Given the description of an element on the screen output the (x, y) to click on. 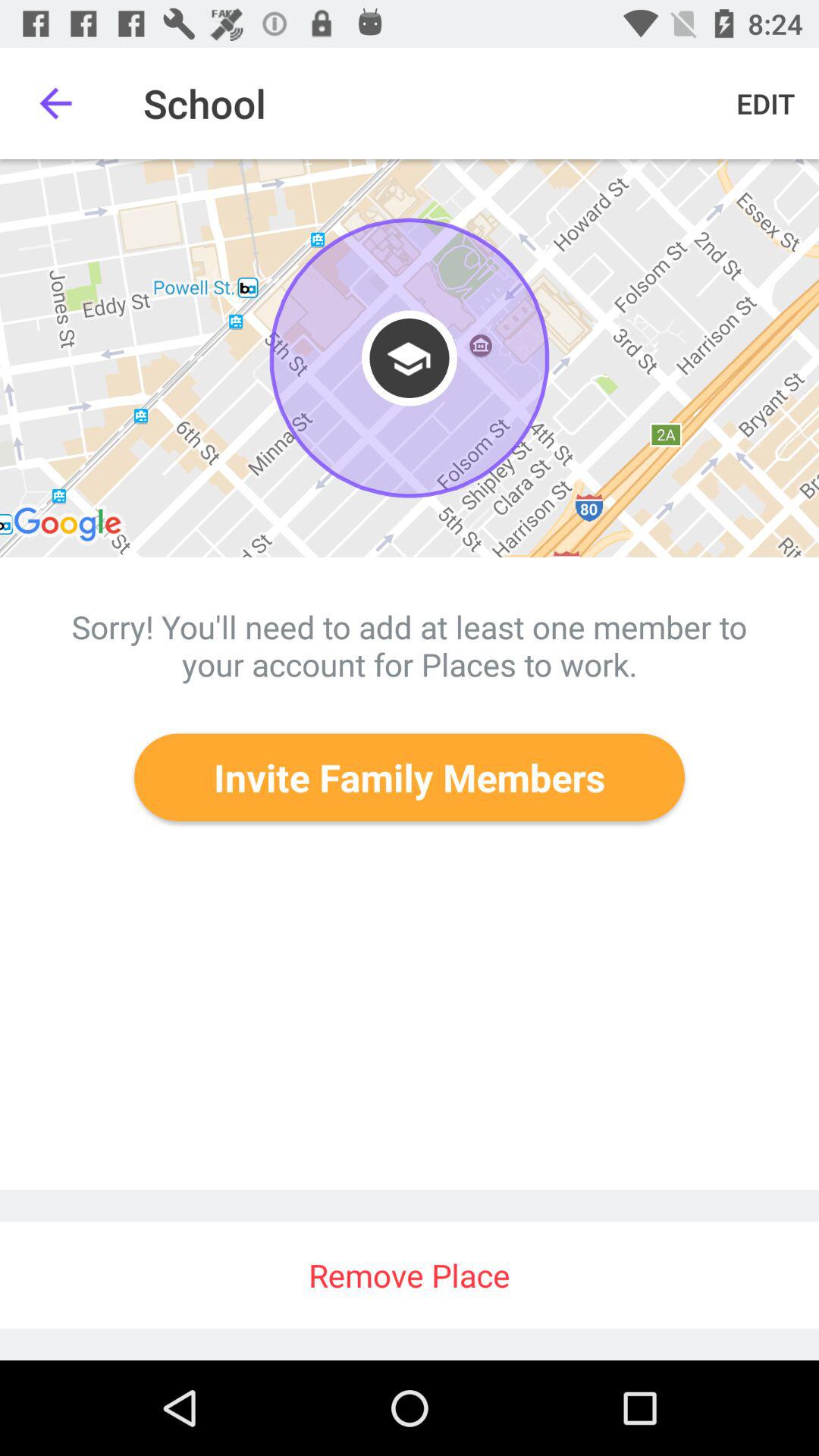
press icon above remove place item (409, 777)
